Given the description of an element on the screen output the (x, y) to click on. 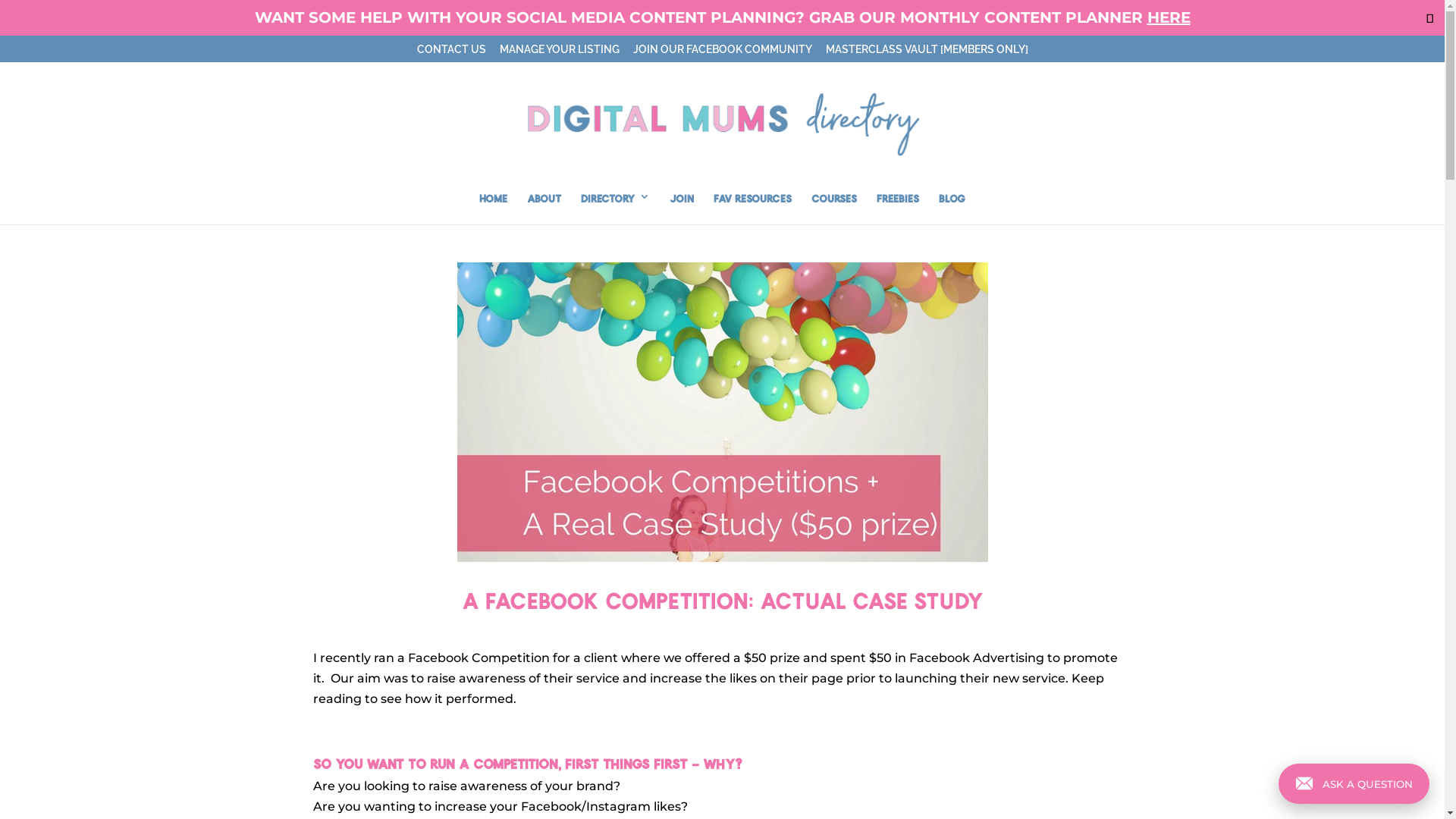
CONTACT US Element type: text (451, 52)
MASTERCLASS VAULT [MEMBERS ONLY] Element type: text (926, 52)
FREEBIES Element type: text (897, 207)
FAV RESOURCES Element type: text (752, 207)
BLOG Element type: text (951, 207)
HERE Element type: text (1167, 17)
COURSES Element type: text (833, 207)
ASK A QUESTION Element type: text (1353, 783)
JOIN Element type: text (681, 207)
JOIN OUR FACEBOOK COMMUNITY Element type: text (721, 52)
DIRECTORY Element type: text (614, 207)
MANAGE YOUR LISTING Element type: text (558, 52)
ABOUT Element type: text (544, 207)
HOME Element type: text (493, 207)
